Given the description of an element on the screen output the (x, y) to click on. 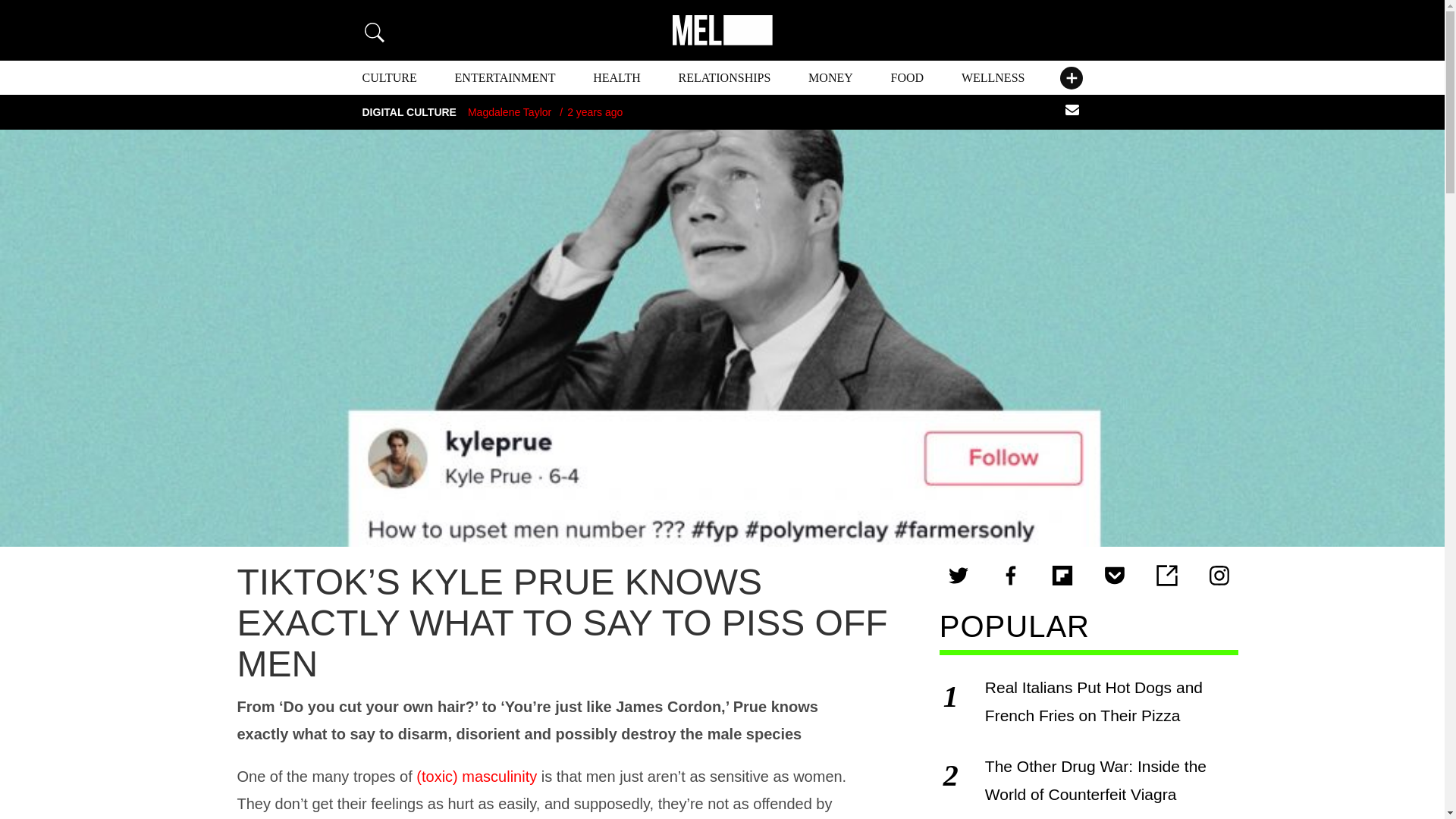
Posts by Magdalene Taylor (509, 111)
WELLNESS (992, 77)
FOOD (907, 77)
RELATIONSHIPS (724, 77)
ENTERTAINMENT (505, 77)
CULTURE (389, 77)
HEALTH (616, 77)
MONEY (830, 77)
MEL Magazine (721, 30)
